Given the description of an element on the screen output the (x, y) to click on. 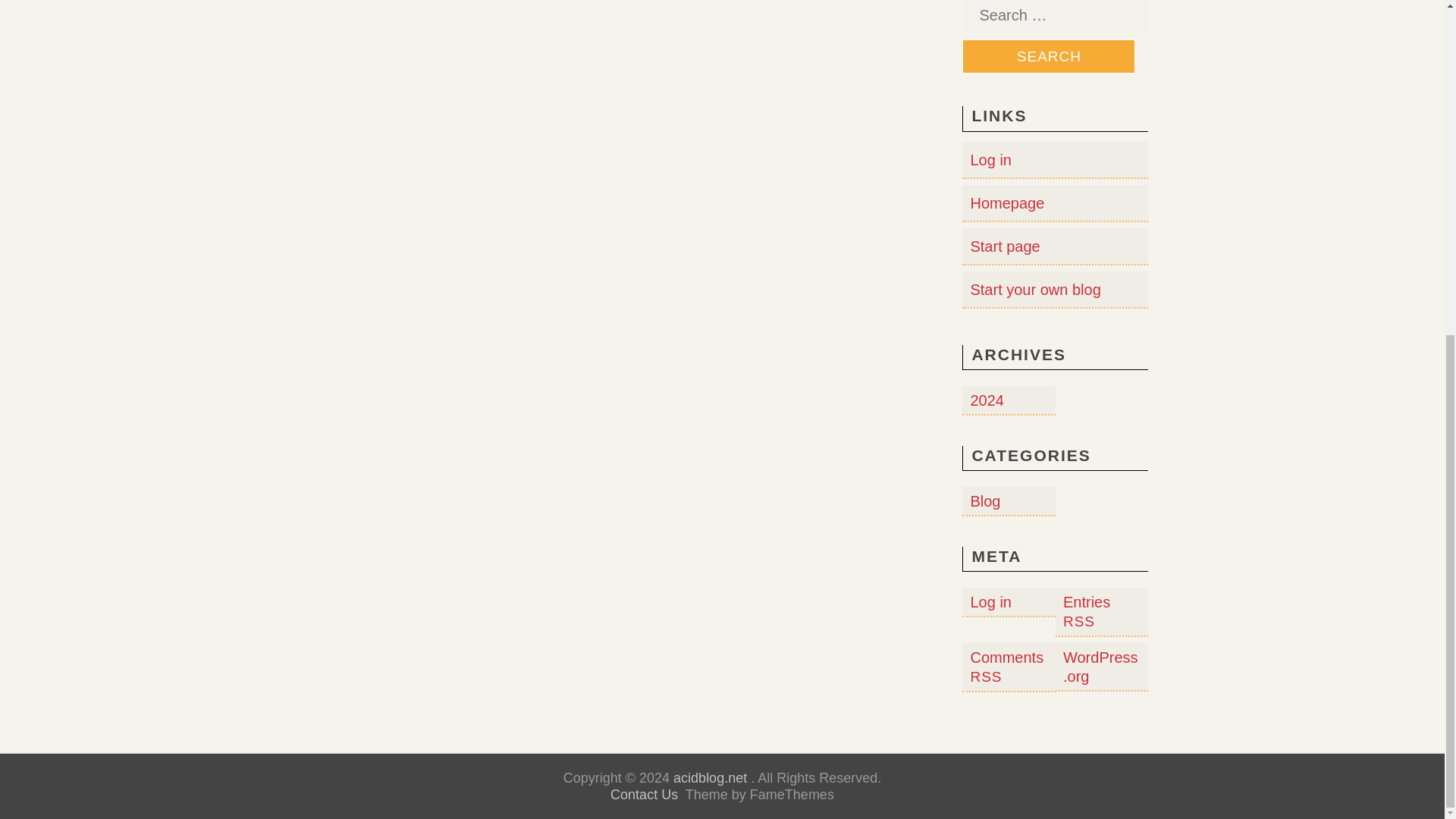
Start your own blog (1034, 289)
Search (1048, 56)
Log in (990, 159)
Comments RSS (1006, 666)
Search (1048, 56)
Start page (1004, 246)
Search (1048, 56)
Entries RSS (1085, 611)
WordPress.org (1100, 666)
